Given the description of an element on the screen output the (x, y) to click on. 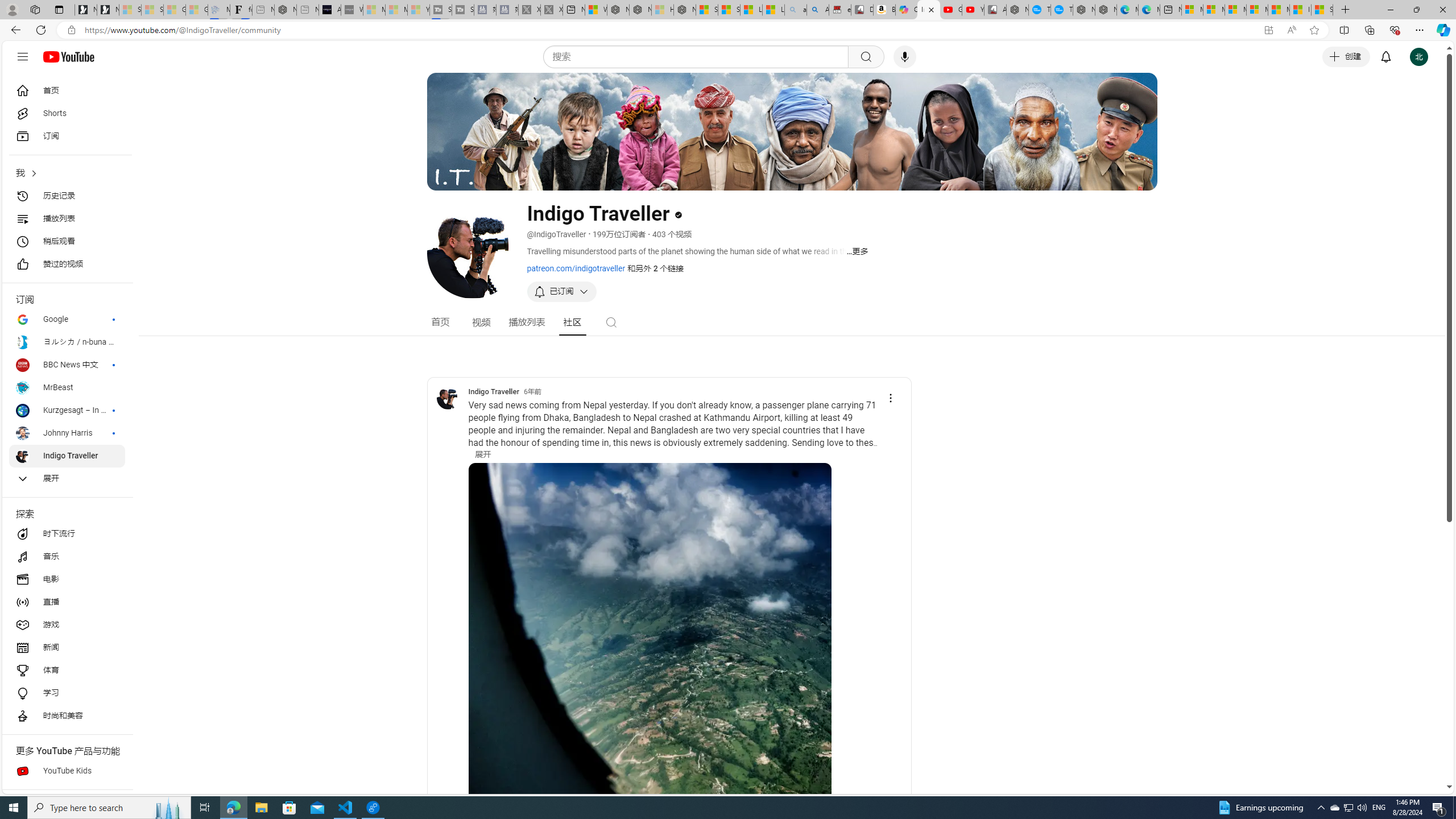
Indigo Traveller - YouTube (928, 9)
MrBeast (66, 387)
